Given the description of an element on the screen output the (x, y) to click on. 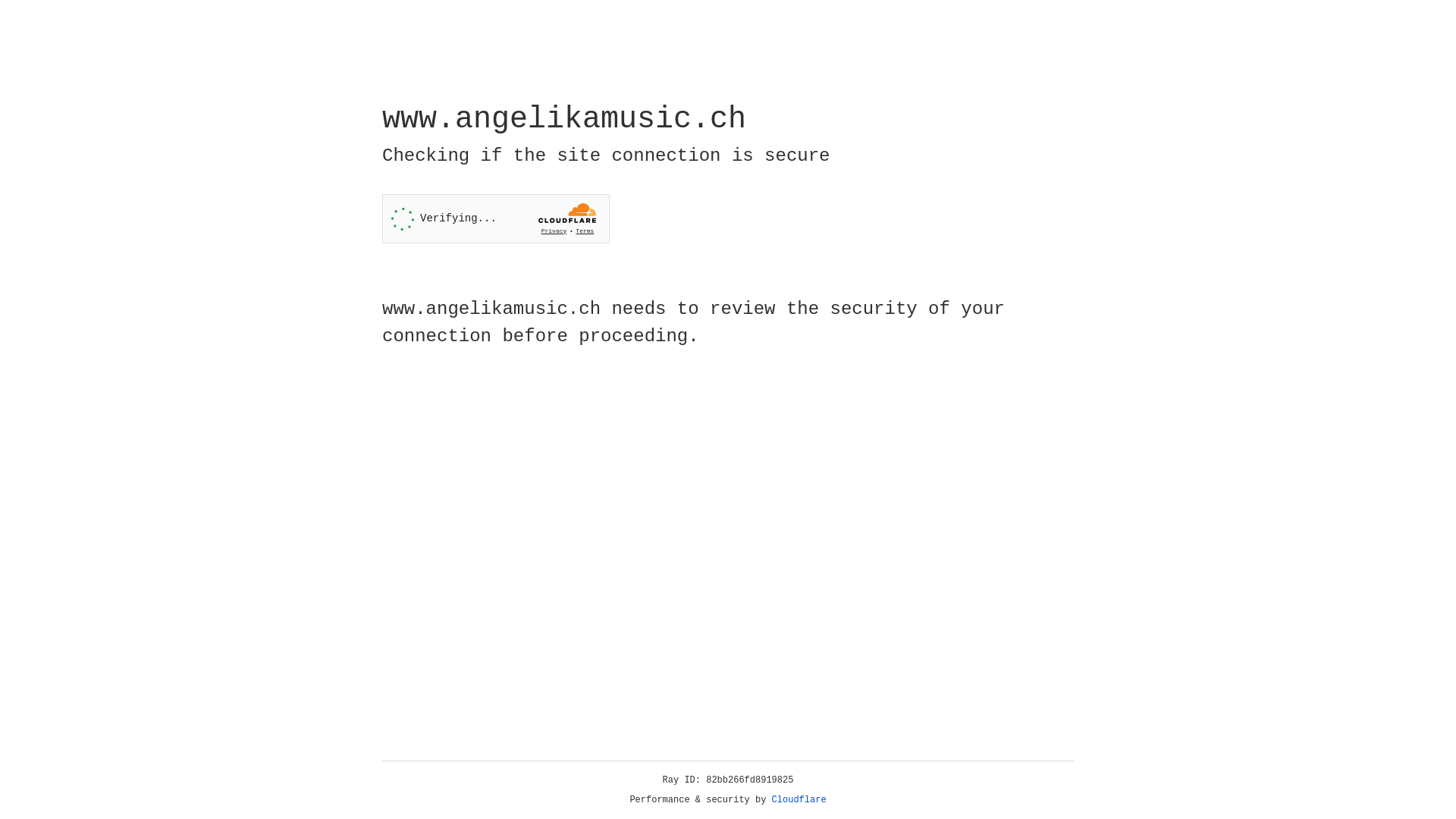
Cloudflare Element type: text (798, 799)
